Given the description of an element on the screen output the (x, y) to click on. 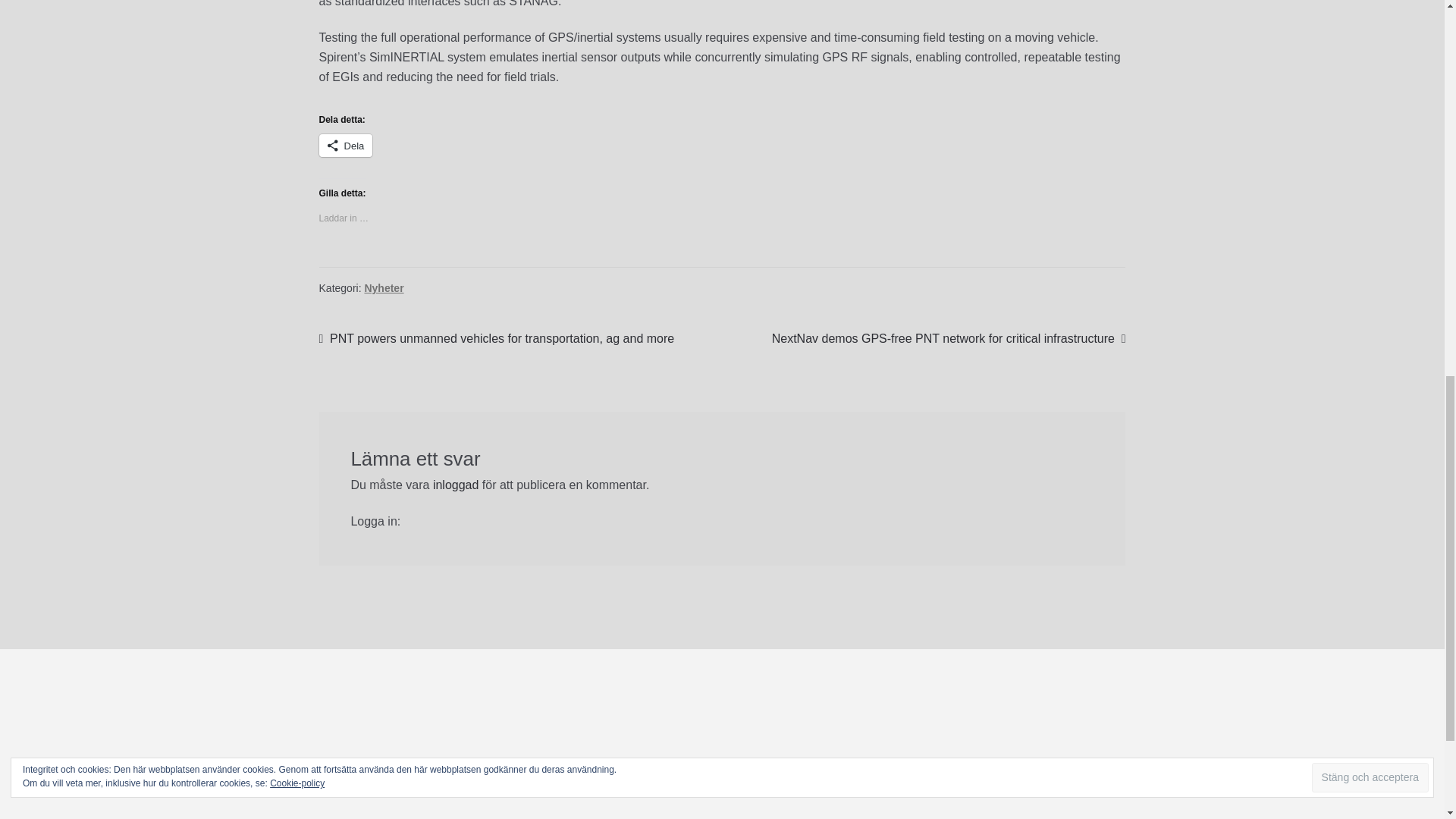
inloggad (455, 484)
Nyheter (383, 287)
Dela (345, 145)
